Given the description of an element on the screen output the (x, y) to click on. 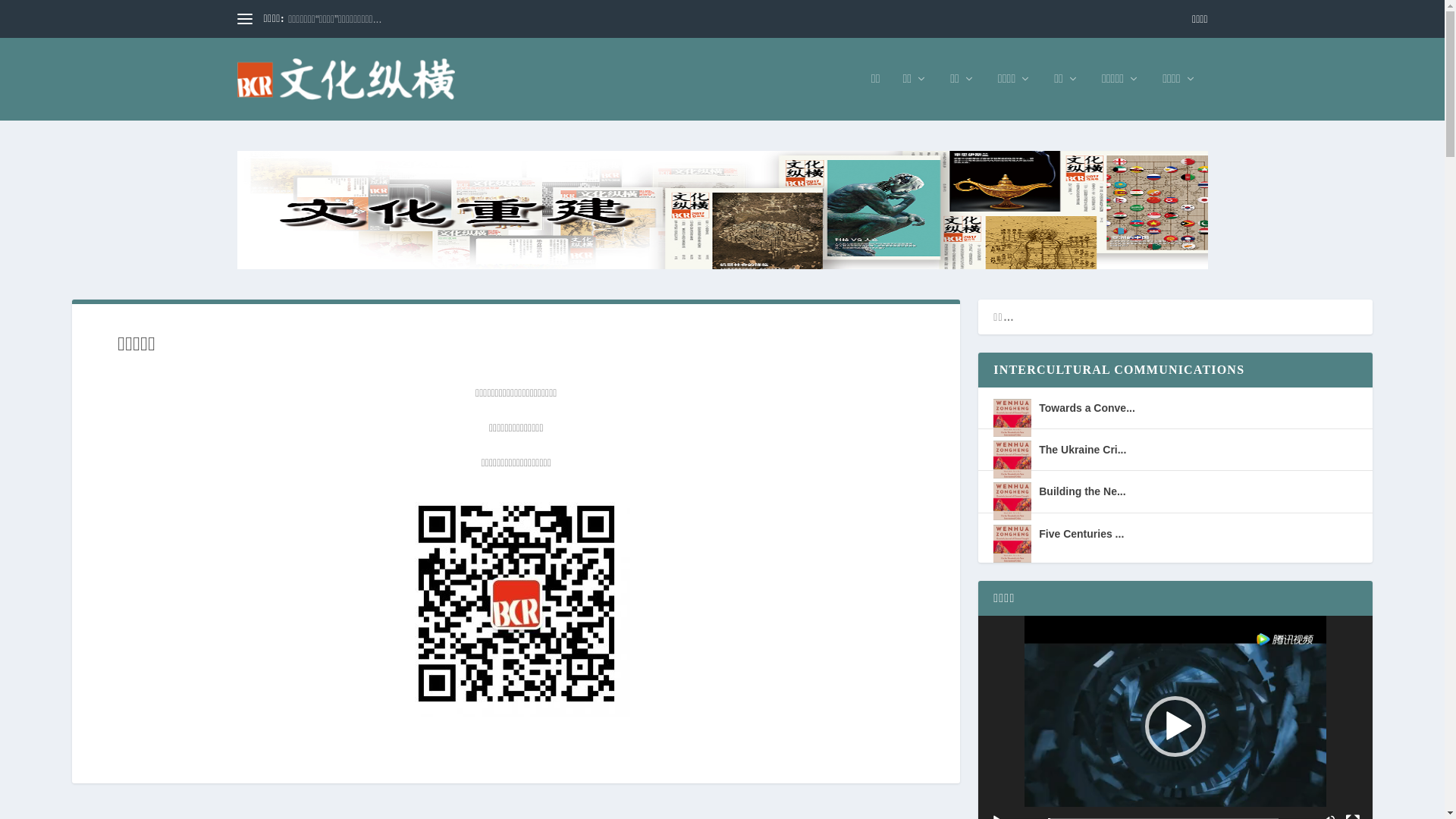
Towards a Conve... Element type: text (1086, 407)
Five Centuries ... Element type: text (1080, 533)
Towards a Conversation Across Civilisations Element type: hover (1012, 417)
Building the Ne... Element type: text (1081, 491)
The Ukraine Cri... Element type: text (1082, 449)
